Given the description of an element on the screen output the (x, y) to click on. 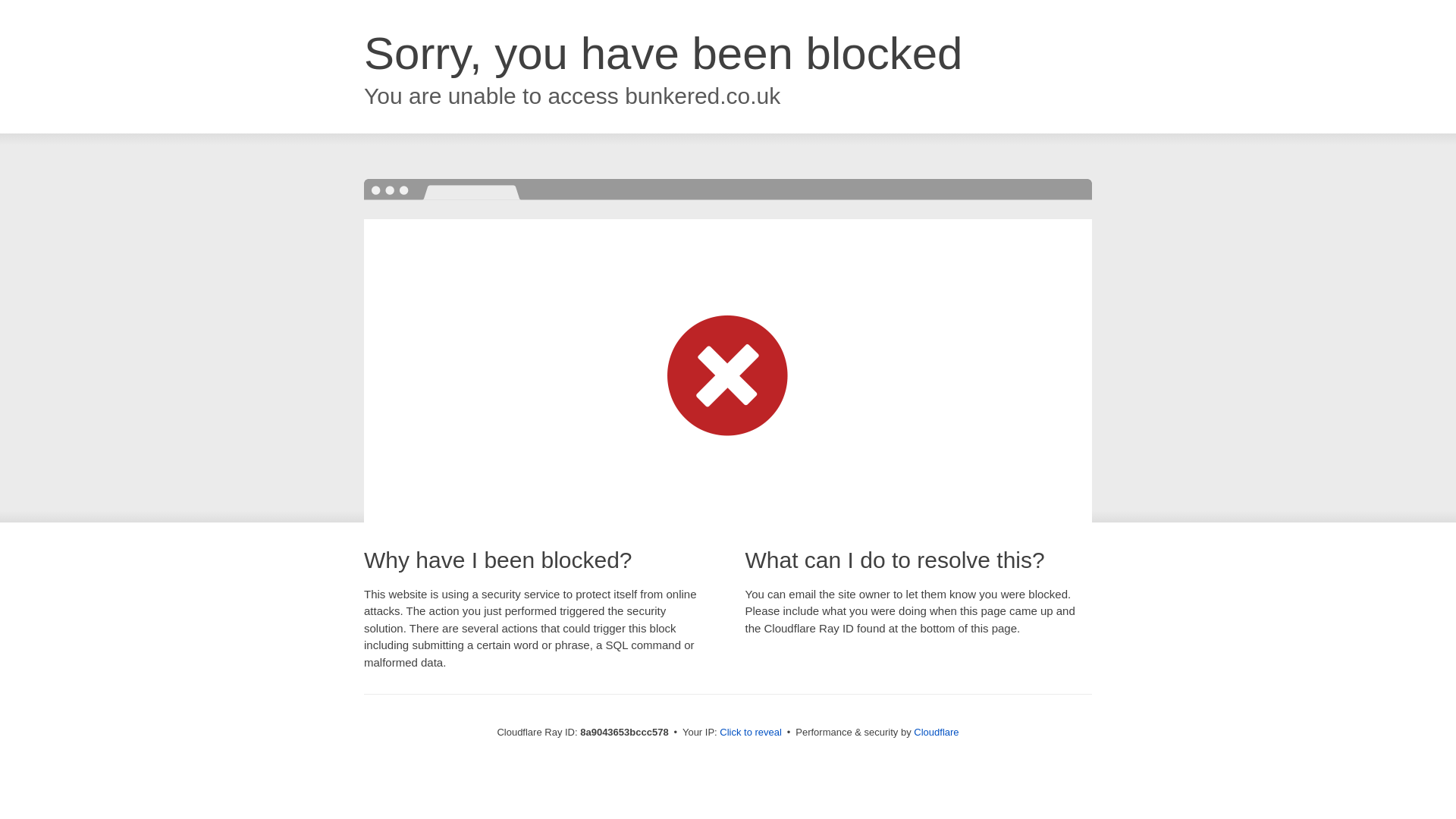
Cloudflare (936, 731)
Click to reveal (750, 732)
